Given the description of an element on the screen output the (x, y) to click on. 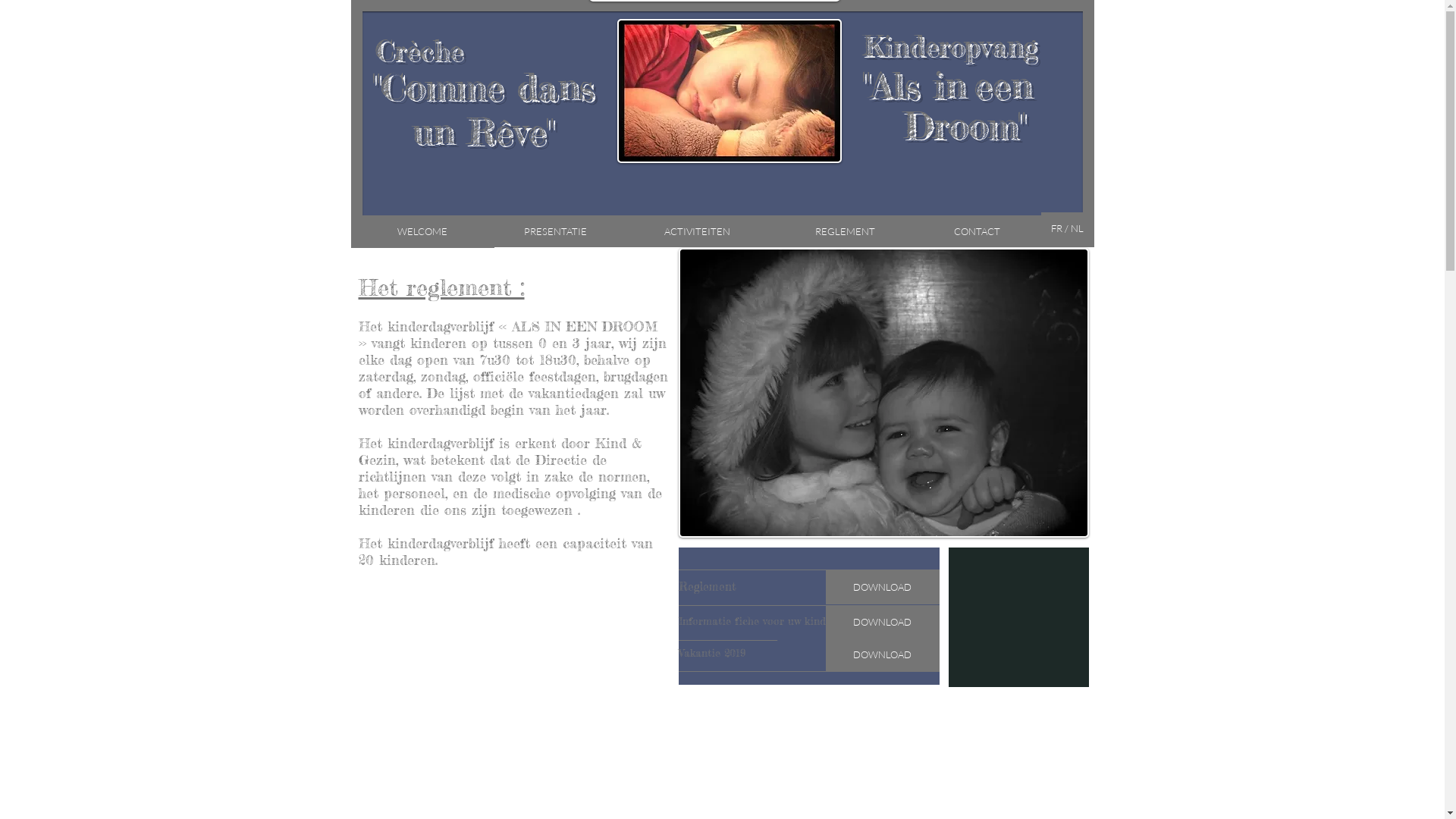
WELCOME Element type: text (421, 231)
DOWNLOAD Element type: text (881, 586)
PRESENTATIE Element type: text (555, 231)
DOWNLOAD Element type: text (881, 654)
REGLEMENT Element type: text (844, 231)
FR / NL Element type: text (1066, 228)
ACTIVITEITEN Element type: text (697, 231)
DOWNLOAD Element type: text (881, 622)
CONTACT Element type: text (976, 231)
